Given the description of an element on the screen output the (x, y) to click on. 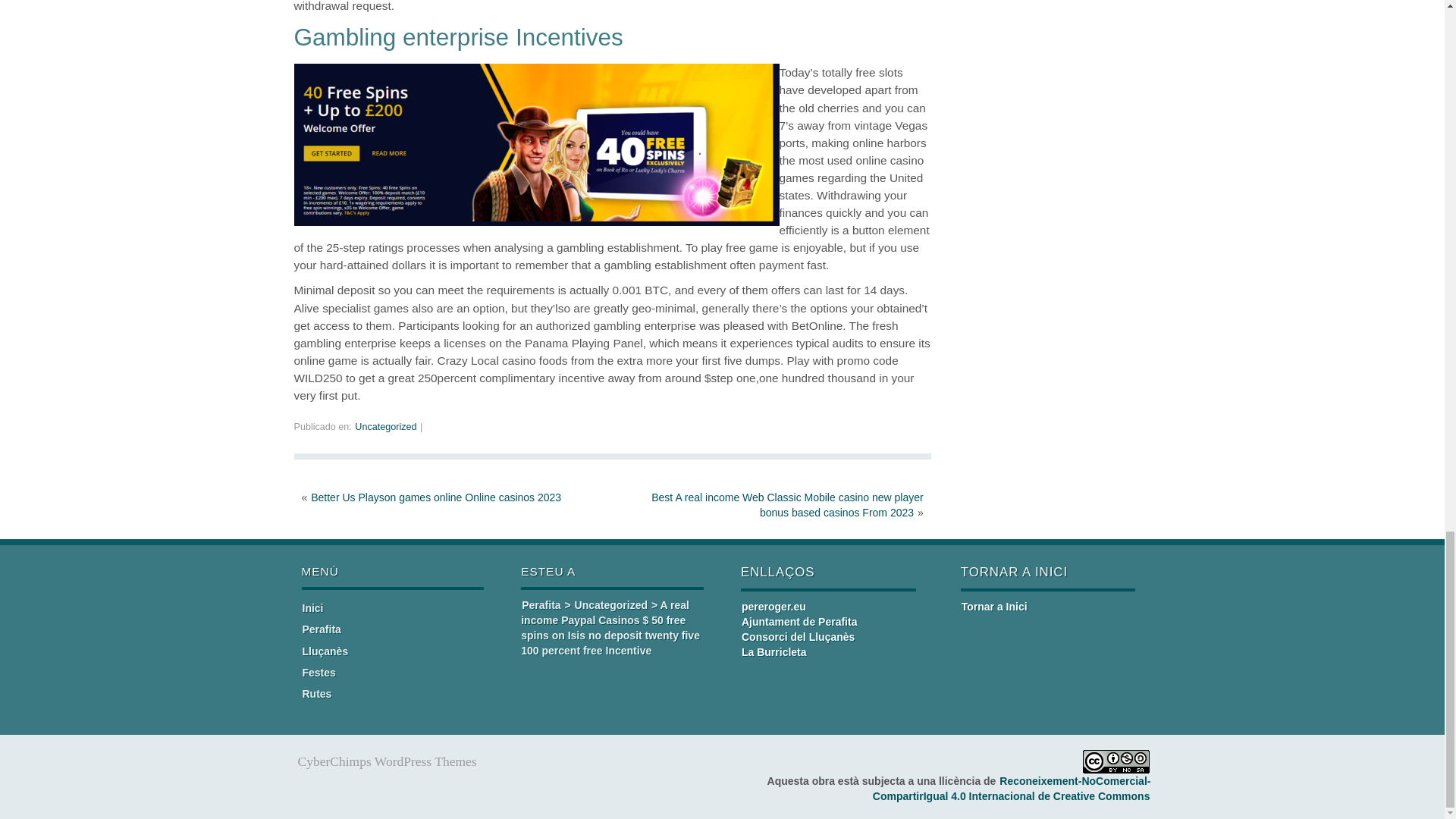
Uncategorized (385, 426)
Inici (312, 607)
Better Us Playson games online Online casinos 2023 (435, 497)
Festes (317, 672)
Perafita (320, 629)
Anar a Perafita. (540, 604)
